Given the description of an element on the screen output the (x, y) to click on. 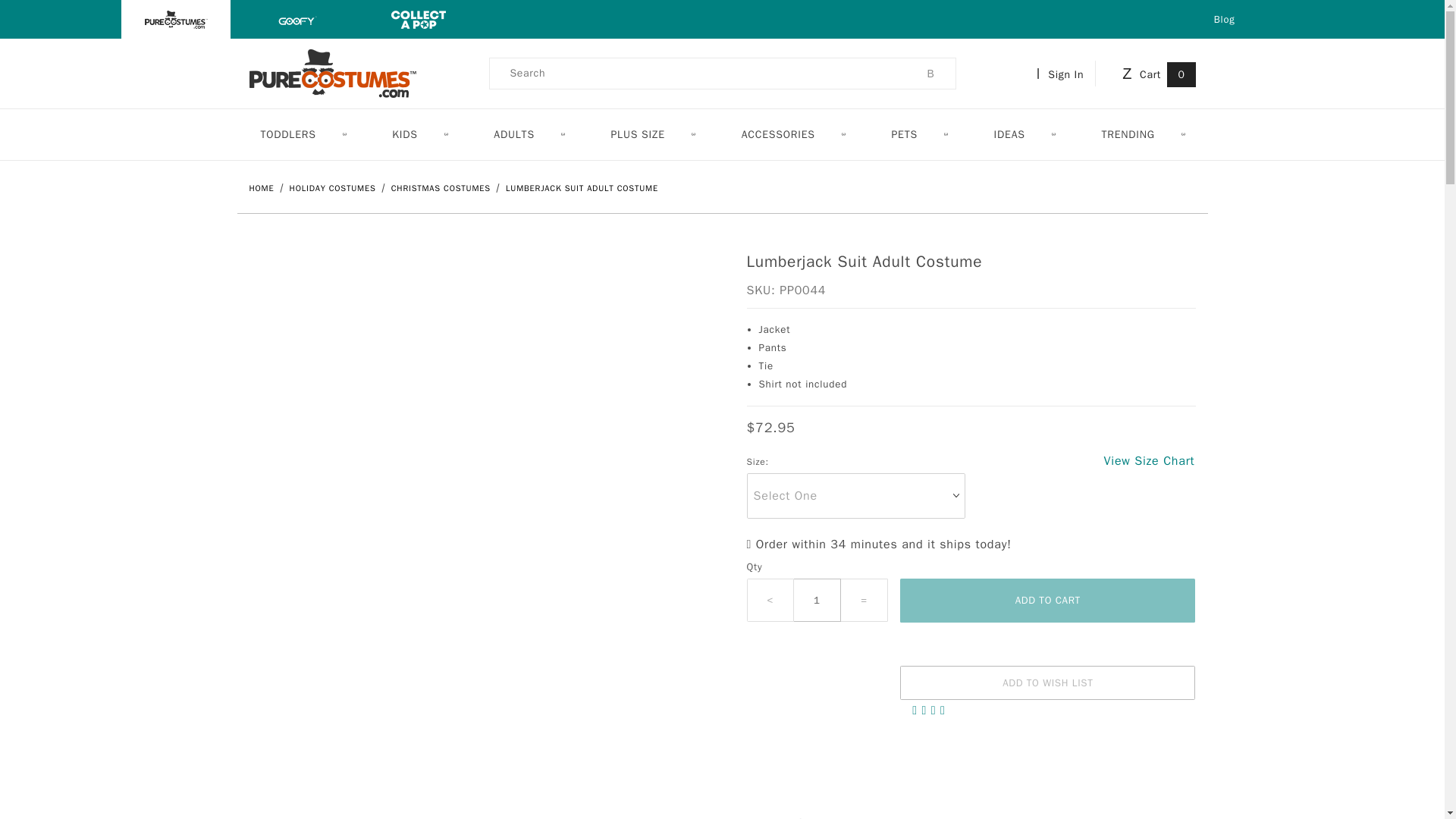
Goofybikes.com (297, 18)
Size: (756, 462)
Add To Cart (1047, 600)
Sign In (1063, 73)
1 (817, 599)
Christmas Costumes (442, 187)
Add to Wish List (1047, 682)
Sign In (1071, 238)
Cart 0 (1155, 73)
TODDLERS (301, 134)
